Given the description of an element on the screen output the (x, y) to click on. 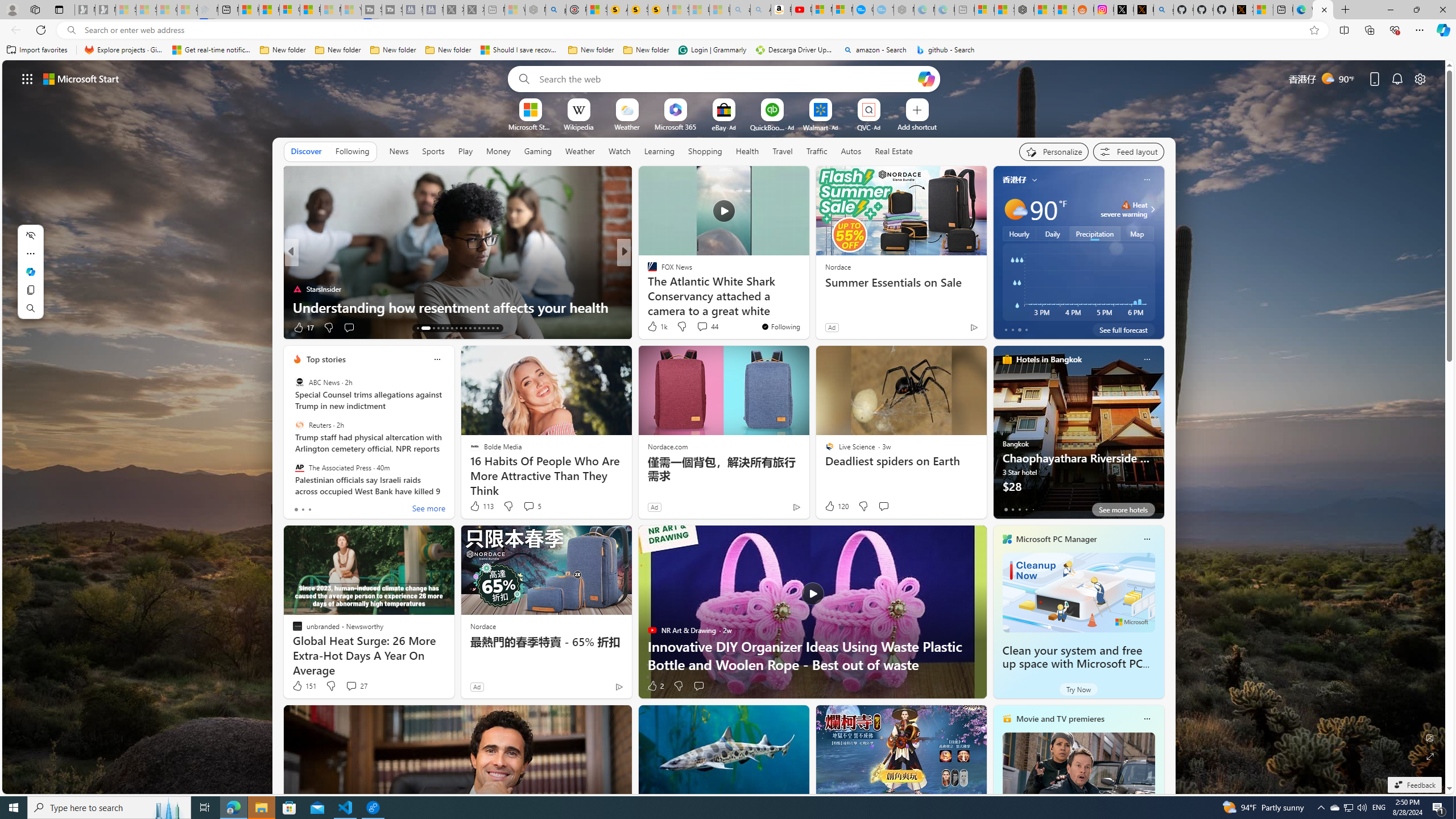
Should I save recovered Word documents? - Microsoft Support (519, 49)
Ripple CEO: XRP ETF comes in 2025 (807, 307)
AutomationID: tab-18 (446, 328)
AutomationID: tab-26 (483, 328)
186 Like (654, 327)
Travel (782, 151)
Wildlife - MSN - Sleeping (514, 9)
Mini menu on text selection (30, 278)
Feed settings (1128, 151)
View comments 5 Comment (532, 505)
